Given the description of an element on the screen output the (x, y) to click on. 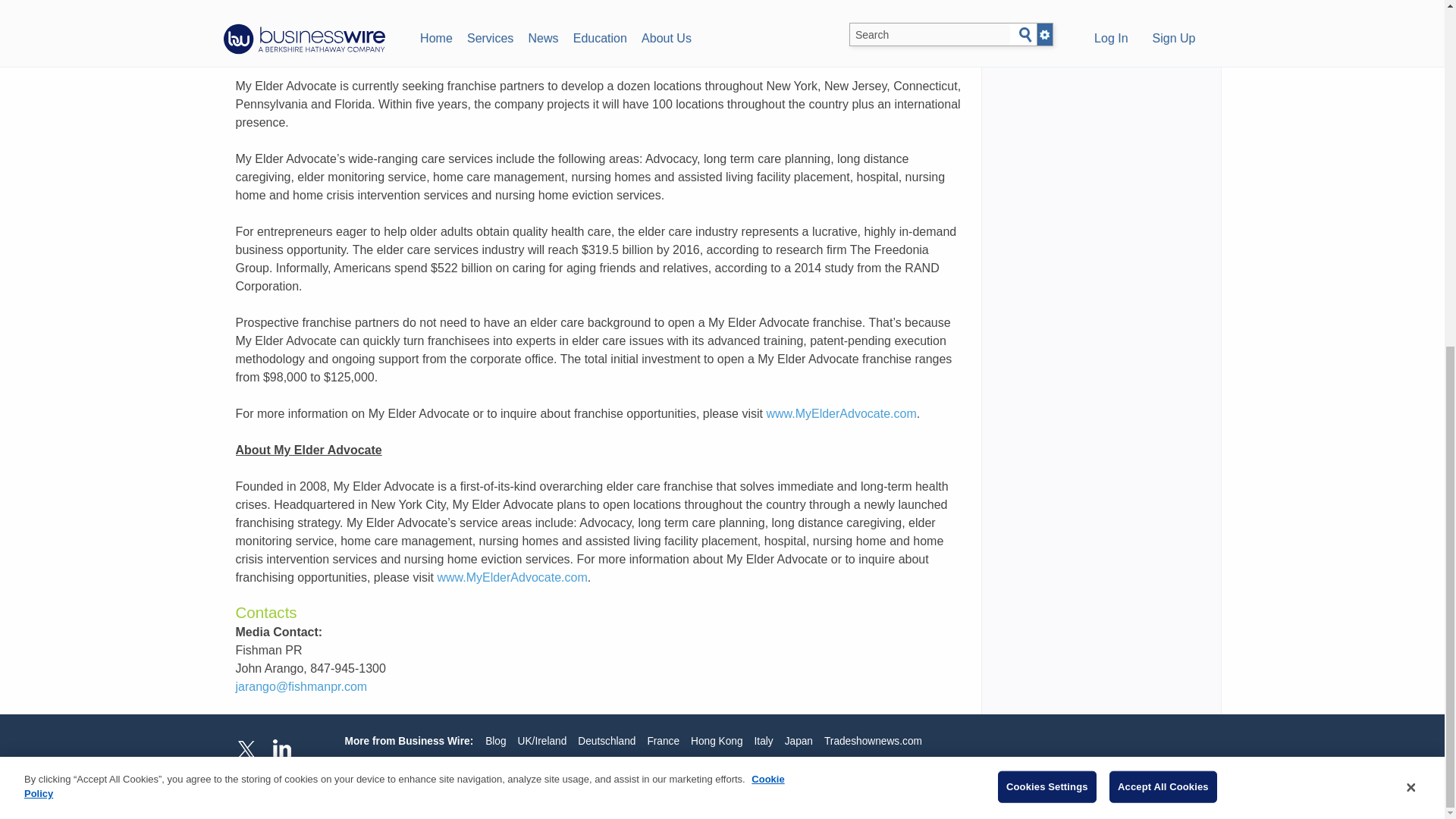
www.MyElderAdvocate.com (511, 576)
www.MyElderAdvocate.com (840, 413)
